Given the description of an element on the screen output the (x, y) to click on. 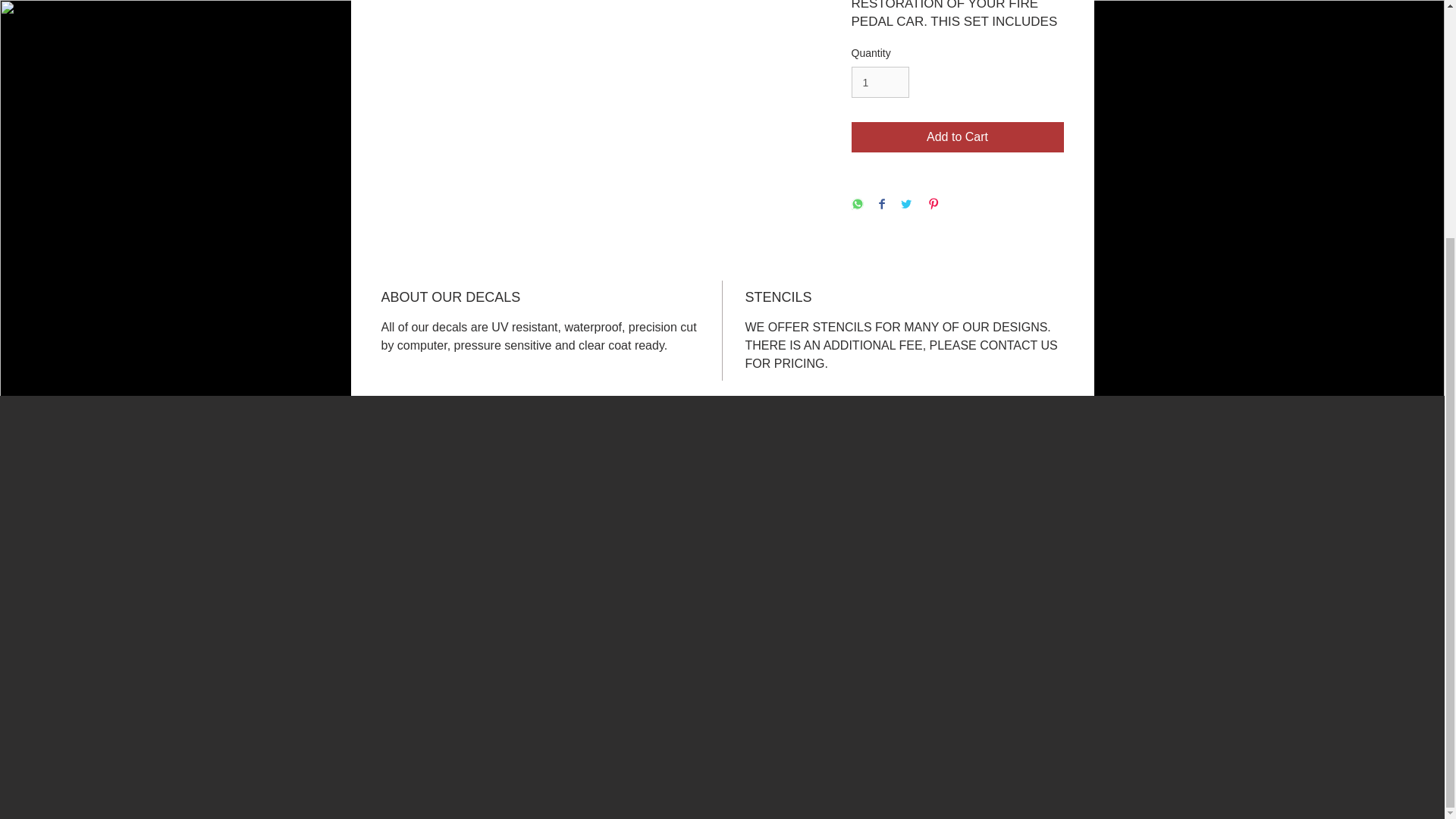
1 (879, 81)
Add to Cart (956, 137)
